Given the description of an element on the screen output the (x, y) to click on. 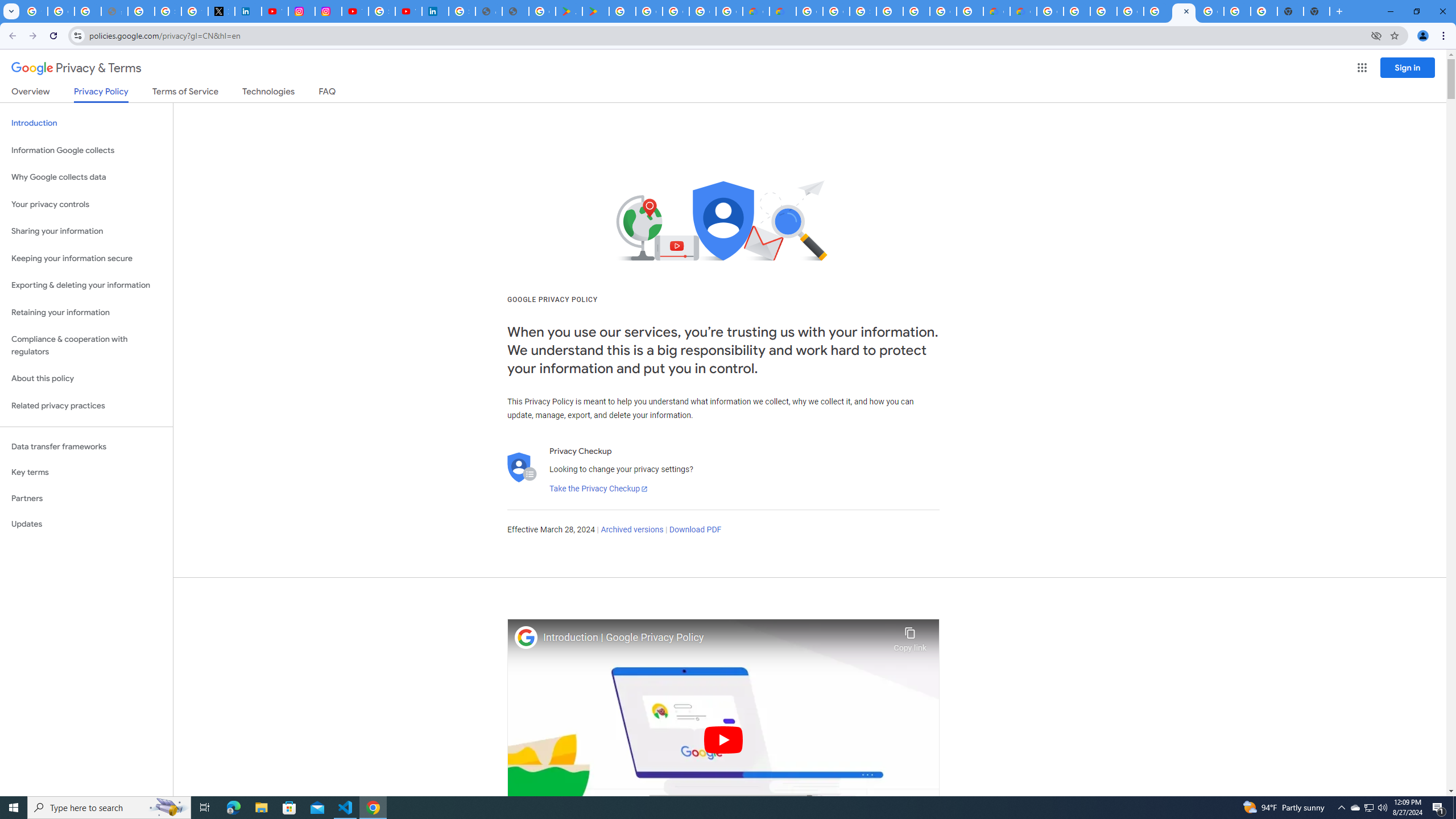
Customer Care | Google Cloud (756, 11)
New Tab (1316, 11)
Overview (30, 93)
Retaining your information (86, 312)
Play (723, 739)
Keeping your information secure (86, 258)
Related privacy practices (86, 405)
Browse Chrome as a guest - Computer - Google Chrome Help (1076, 11)
